Given the description of an element on the screen output the (x, y) to click on. 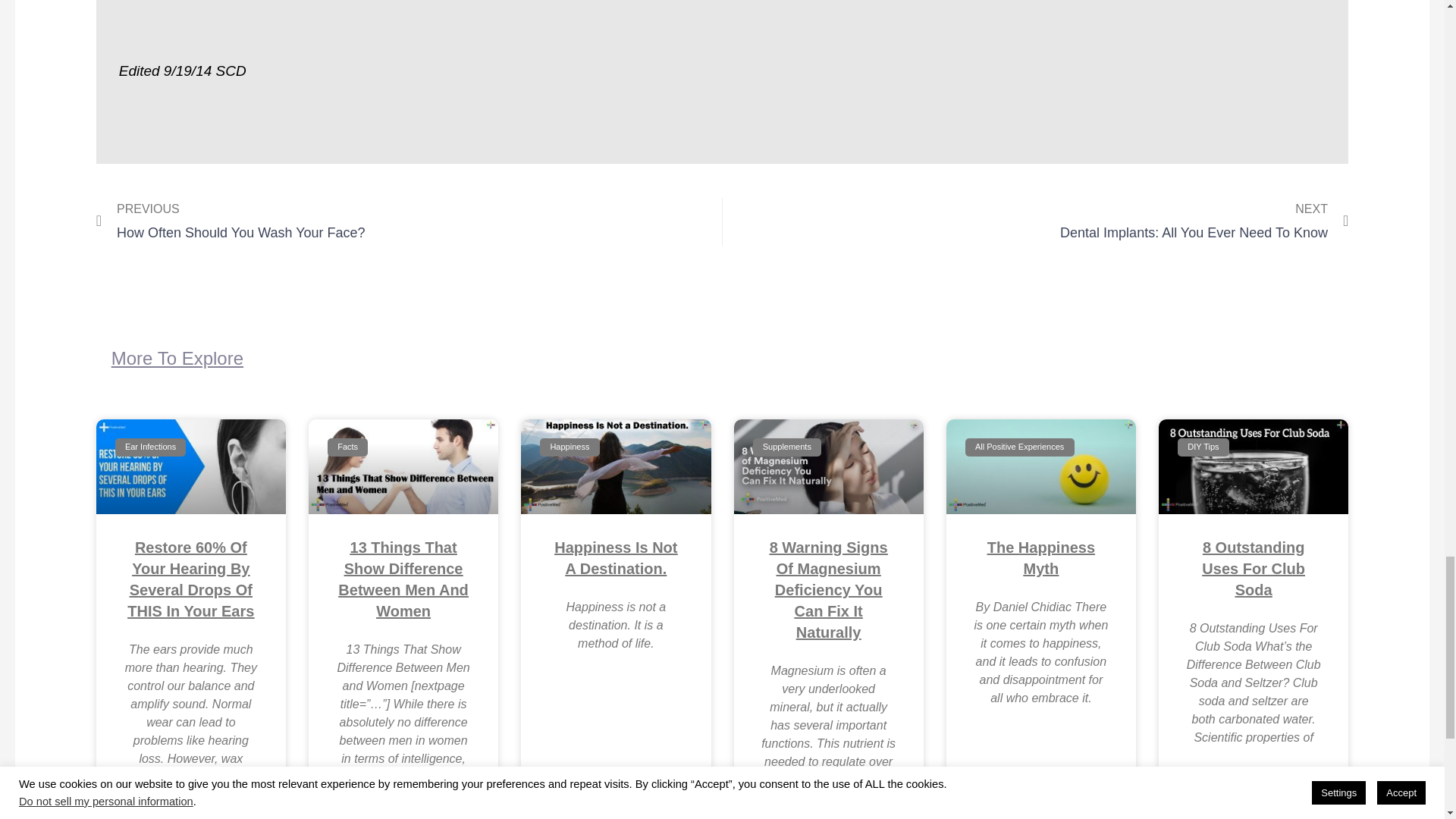
8 Outstanding Uses For Club Soda (1035, 221)
13 Things That Show Difference Between Men And Women (1253, 568)
Happiness Is Not A Destination. (409, 221)
The Happiness Myth (402, 578)
